Given the description of an element on the screen output the (x, y) to click on. 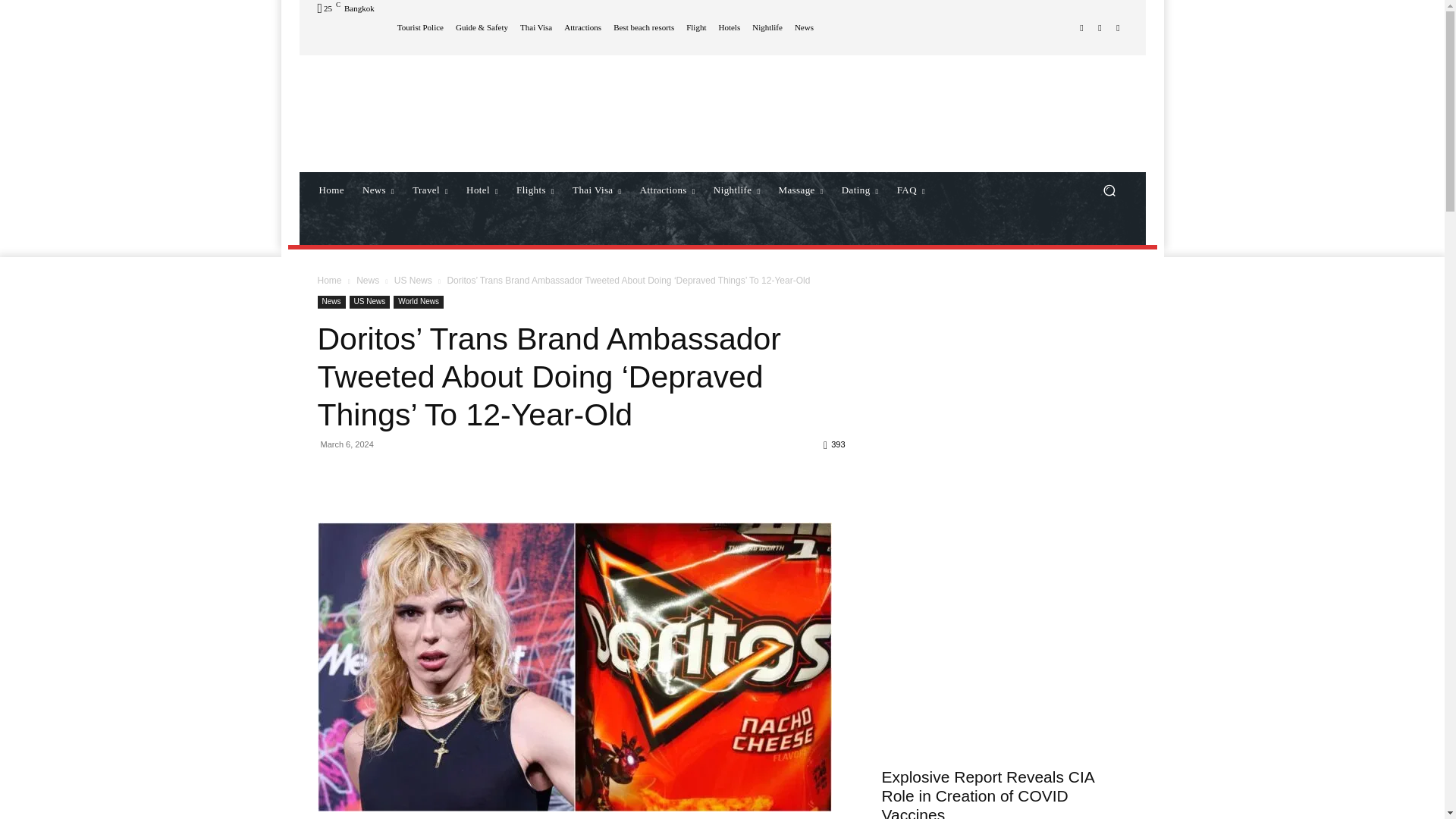
Twitter (1117, 27)
GETTR (1080, 27)
Tumblr (1099, 27)
